Given the description of an element on the screen output the (x, y) to click on. 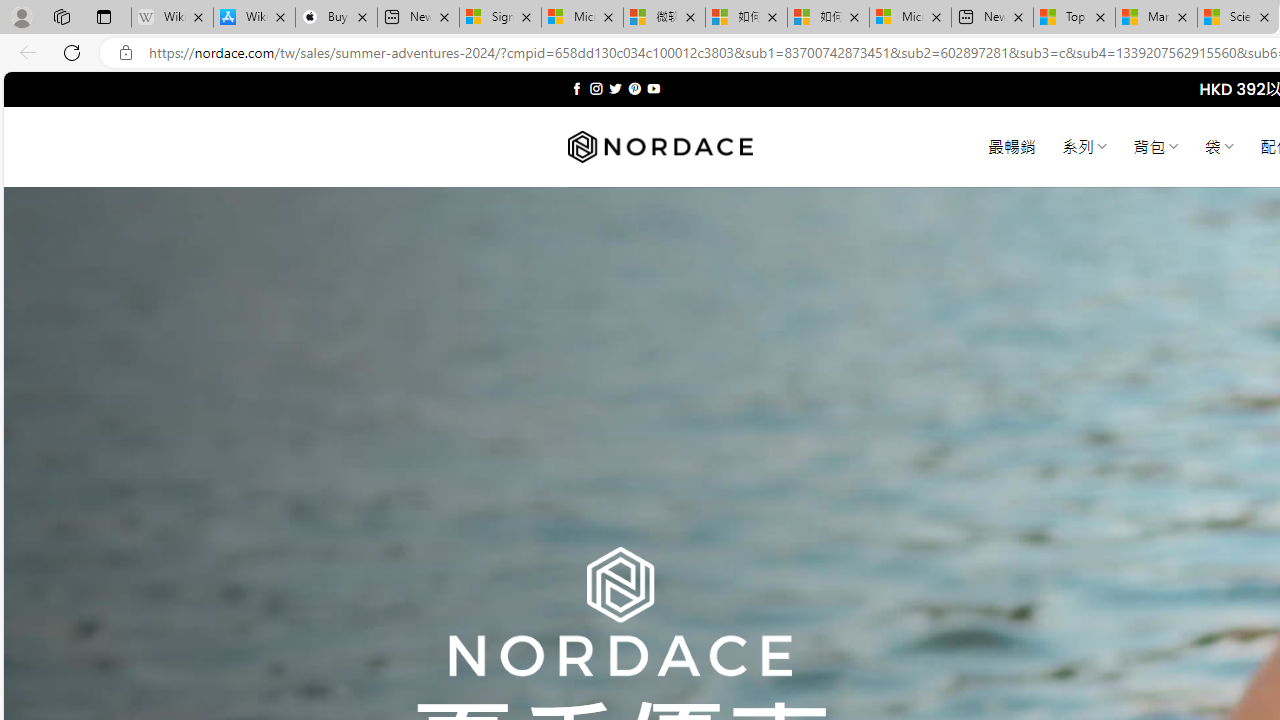
Workspaces (61, 16)
Top Stories - MSN (1074, 17)
Refresh (72, 52)
Microsoft account | Account Checkup (910, 17)
Microsoft Services Agreement (582, 17)
Wikipedia - Sleeping (171, 17)
Follow on Pinterest (634, 88)
Nordace (659, 147)
Tab actions menu (104, 16)
New tab (992, 17)
